Given the description of an element on the screen output the (x, y) to click on. 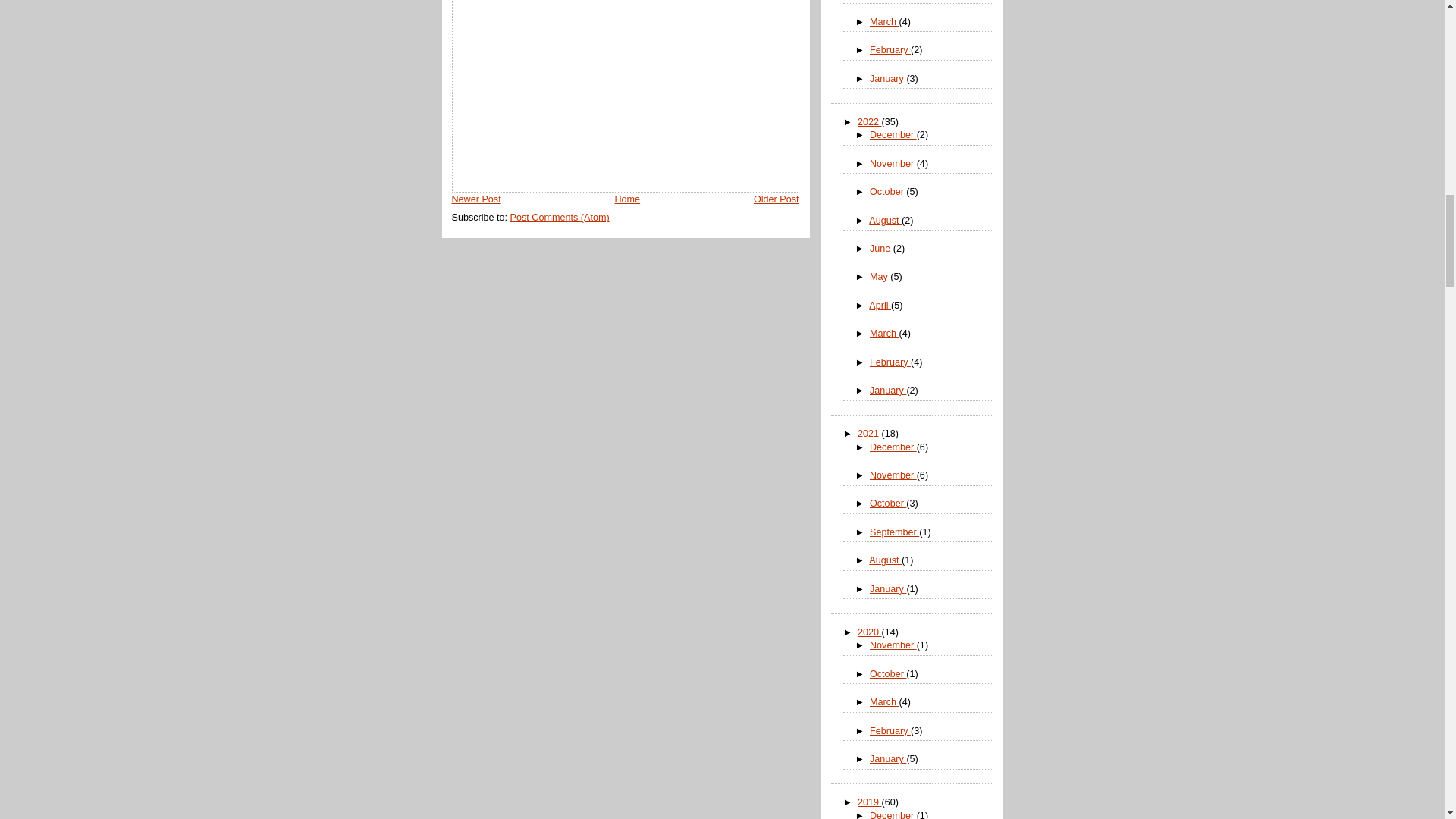
Newer Post (475, 199)
Home (627, 199)
Older Post (776, 199)
Older Post (776, 199)
Newer Post (475, 199)
